Given the description of an element on the screen output the (x, y) to click on. 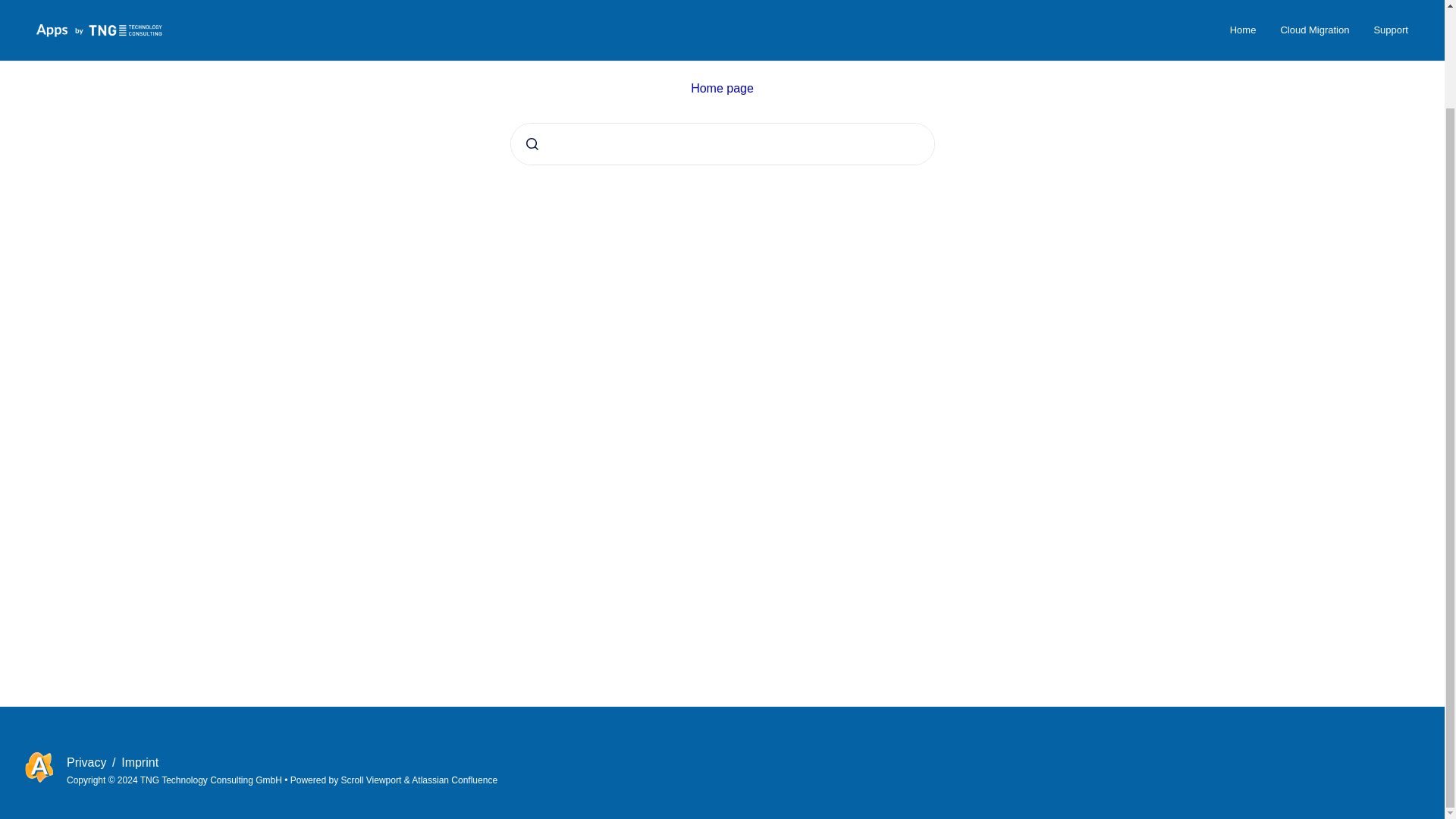
Privacy (88, 762)
Imprint (139, 762)
Atlassian Confluence (454, 779)
Scroll Viewport (371, 779)
Home page (722, 88)
